Given the description of an element on the screen output the (x, y) to click on. 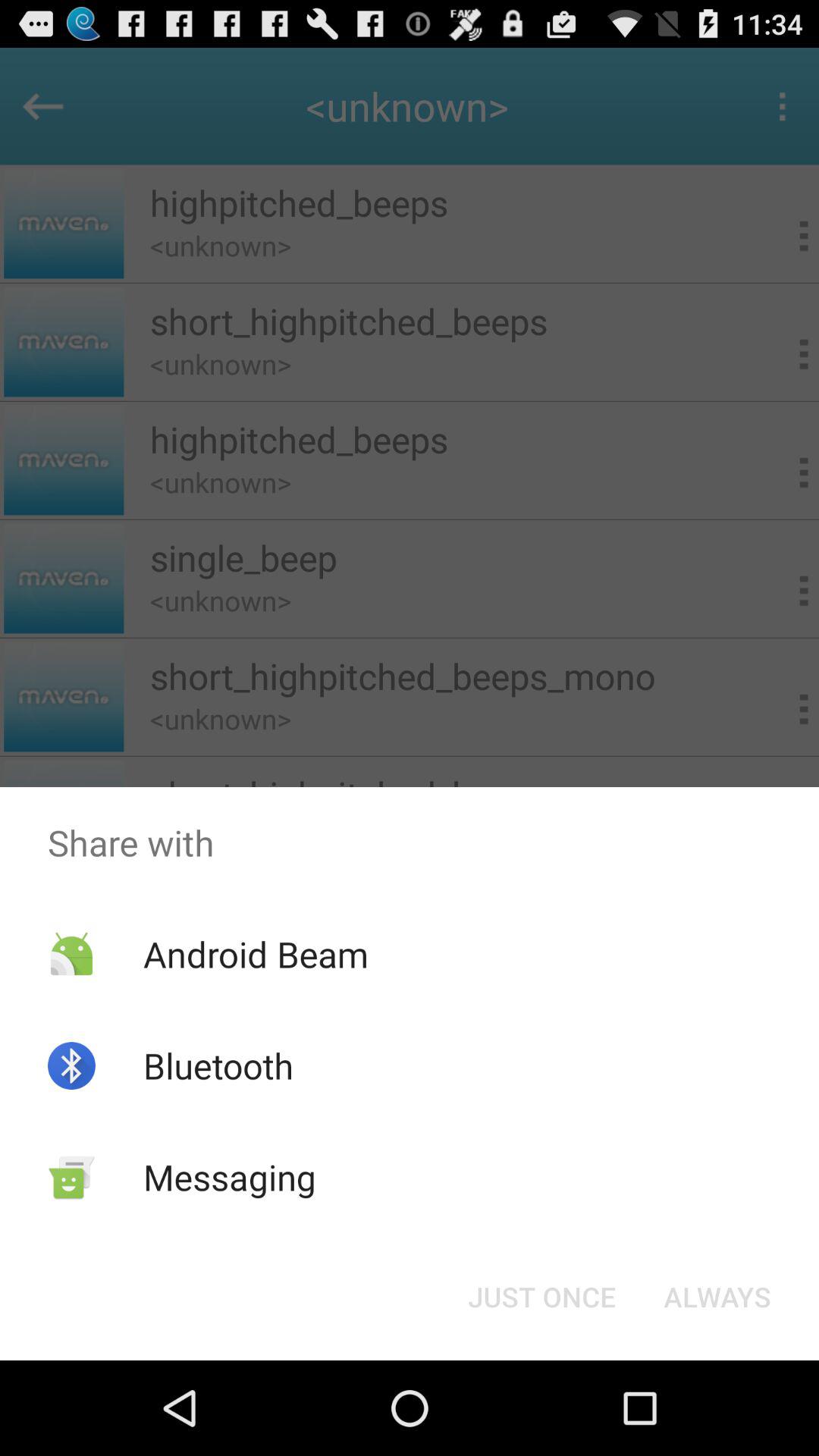
press the item at the bottom (541, 1296)
